Given the description of an element on the screen output the (x, y) to click on. 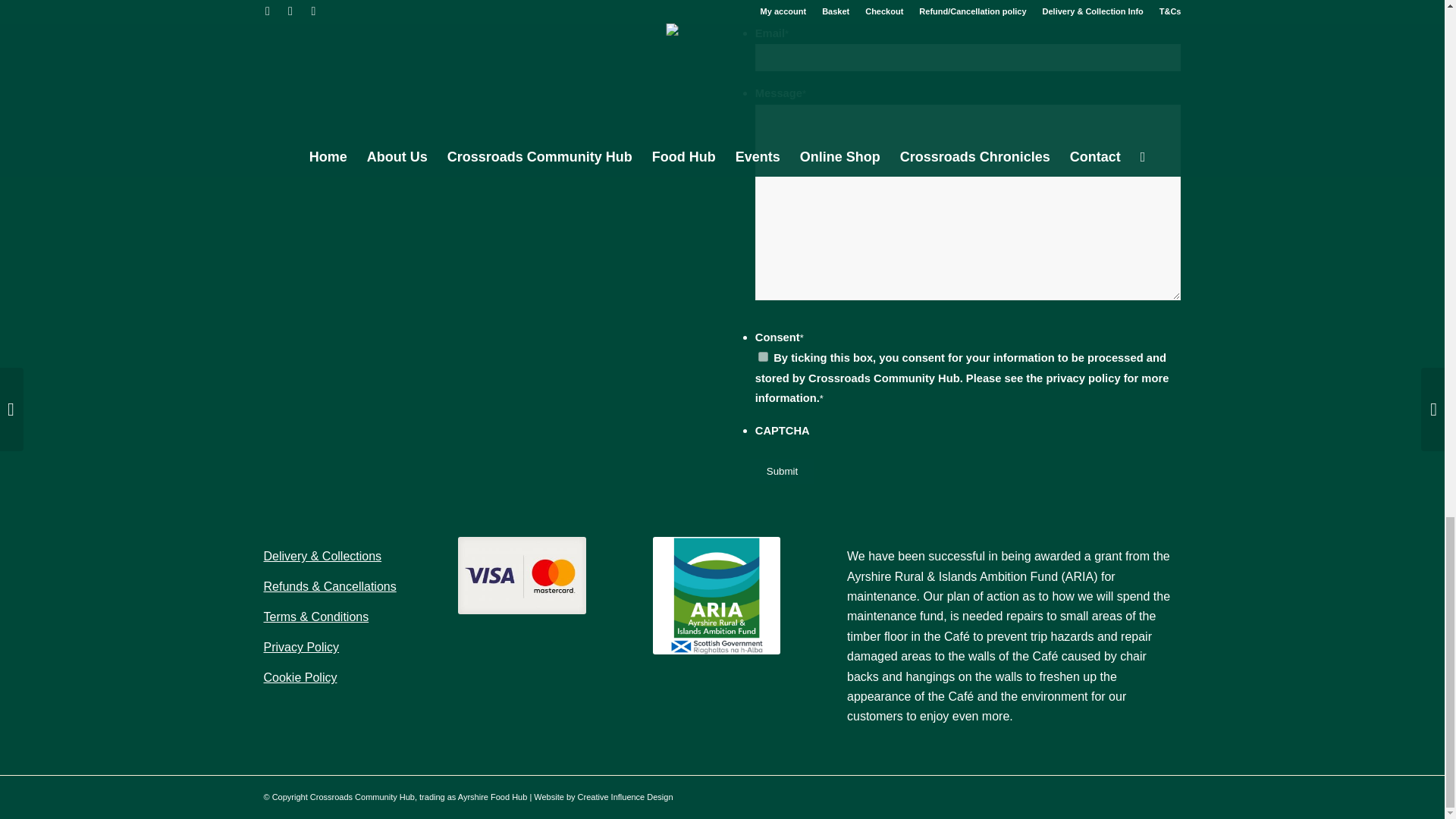
visa-mastercard-logos (522, 575)
Website Privacy Policy (301, 646)
Submit (781, 471)
Website Terms and Conditions (316, 616)
Cookie Policy (300, 676)
1 (763, 356)
